Given the description of an element on the screen output the (x, y) to click on. 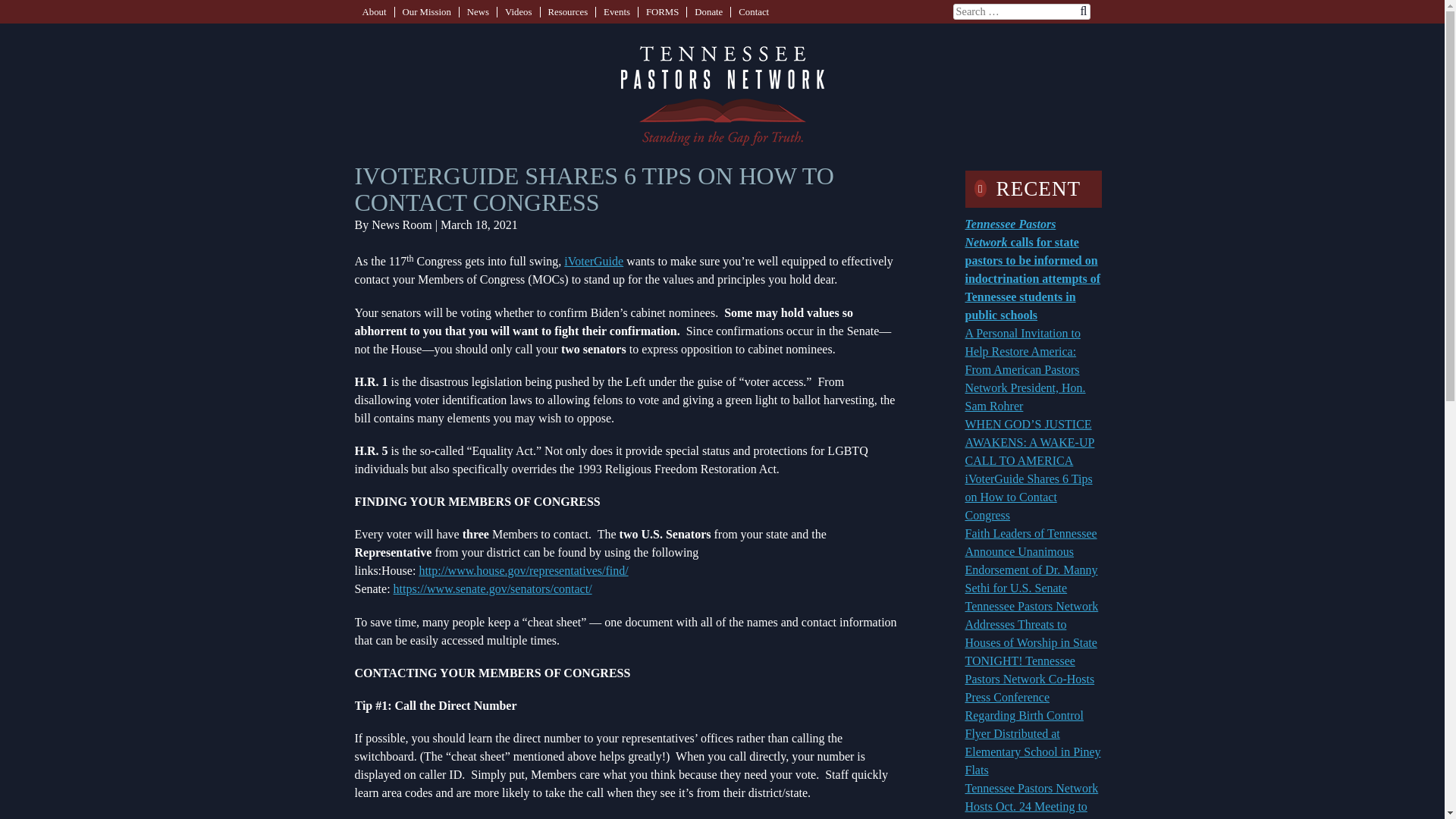
About (374, 11)
Videos (518, 11)
iVoterGuide (593, 260)
Our Mission (425, 11)
Resources (568, 11)
News (478, 11)
